Given the description of an element on the screen output the (x, y) to click on. 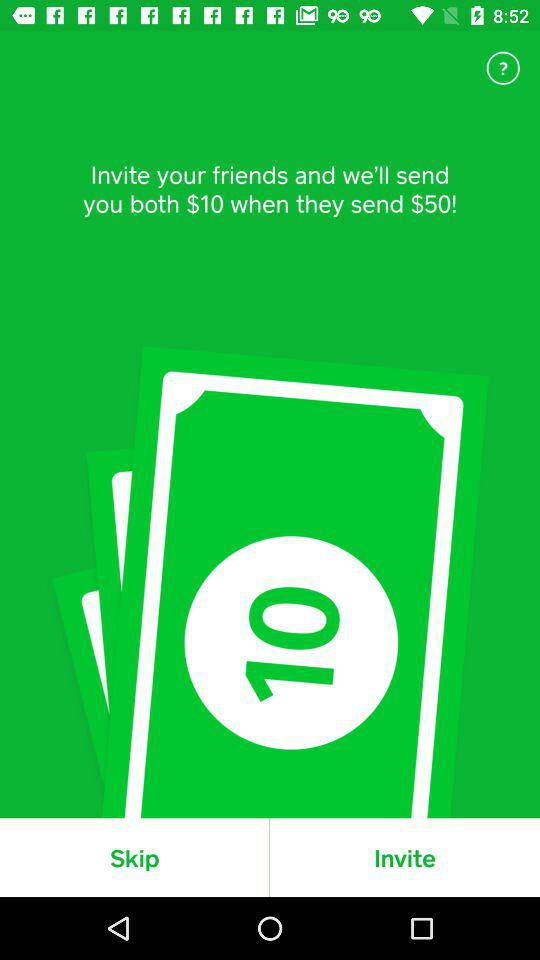
tap the icon to the left of invite item (134, 857)
